Given the description of an element on the screen output the (x, y) to click on. 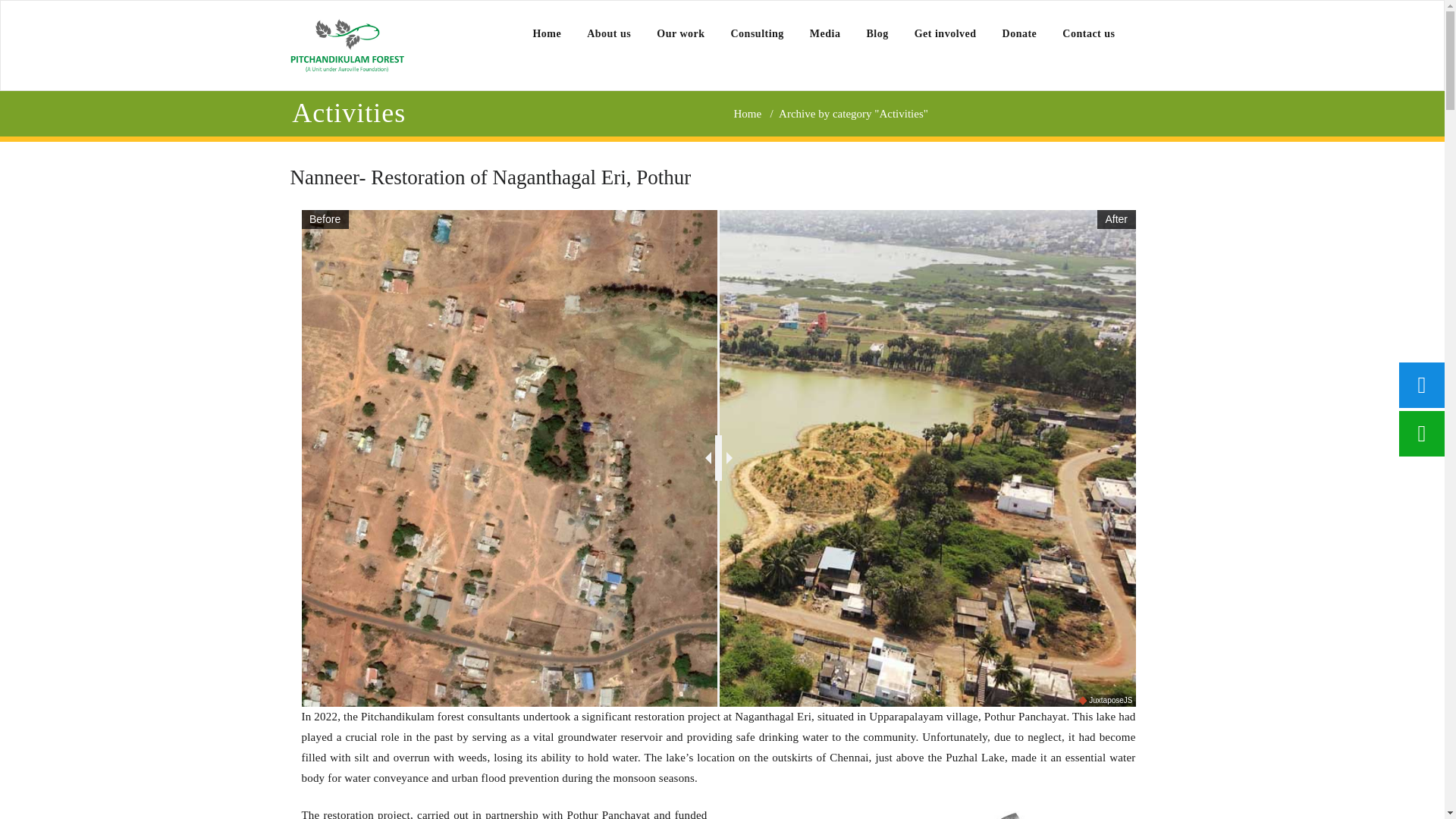
Home (546, 33)
About us (608, 33)
Appointment (346, 45)
Our work (680, 33)
Consulting (756, 33)
